Given the description of an element on the screen output the (x, y) to click on. 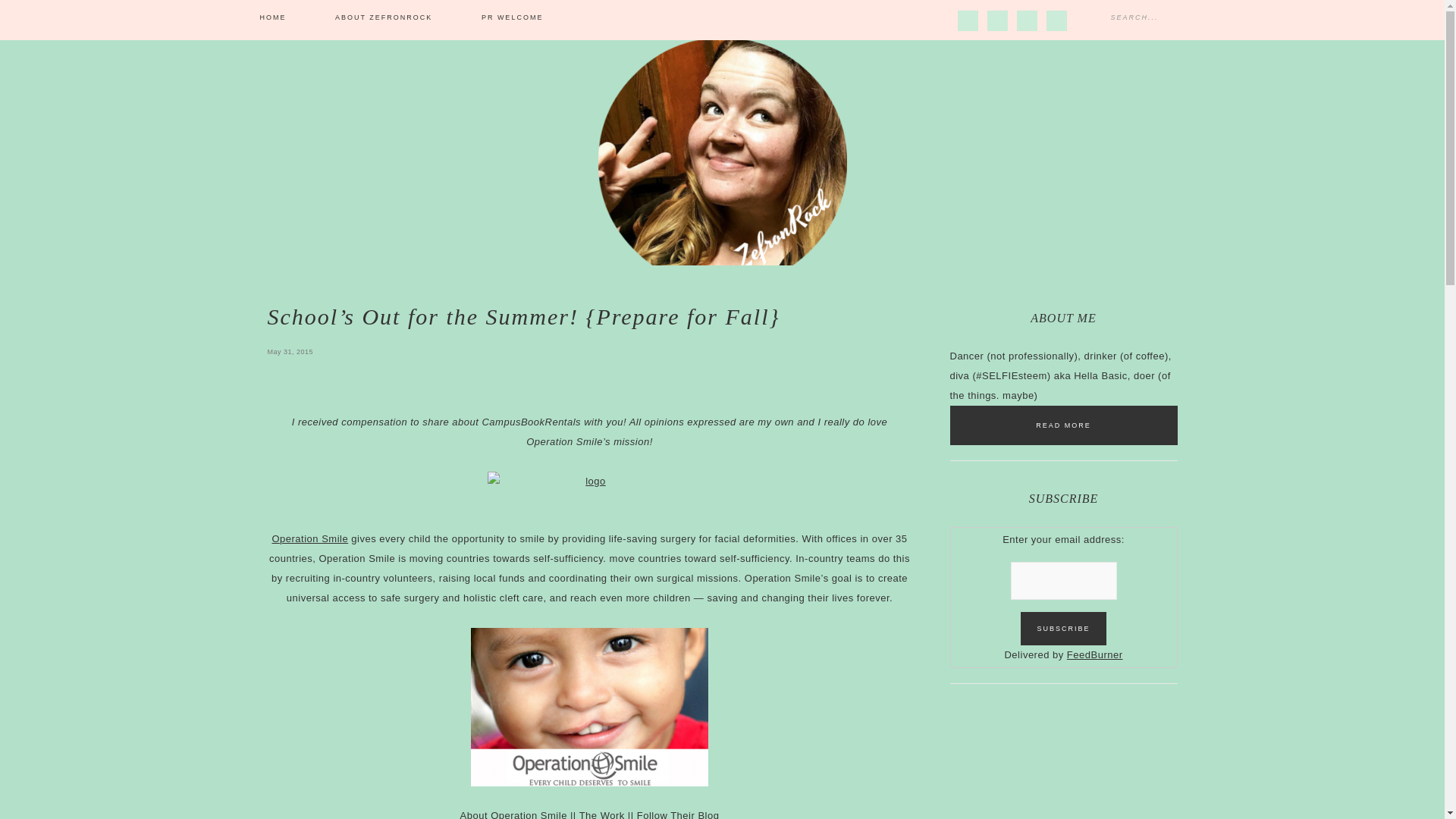
READ MORE (1062, 425)
Subscribe (1062, 628)
Subscribe (1062, 628)
ABOUT ZEFRONROCK (383, 18)
Operation Smile (308, 538)
FeedBurner (1094, 654)
PR WELCOME (512, 18)
The Work (601, 814)
MIXED PRINTS LIFE (721, 151)
